Given the description of an element on the screen output the (x, y) to click on. 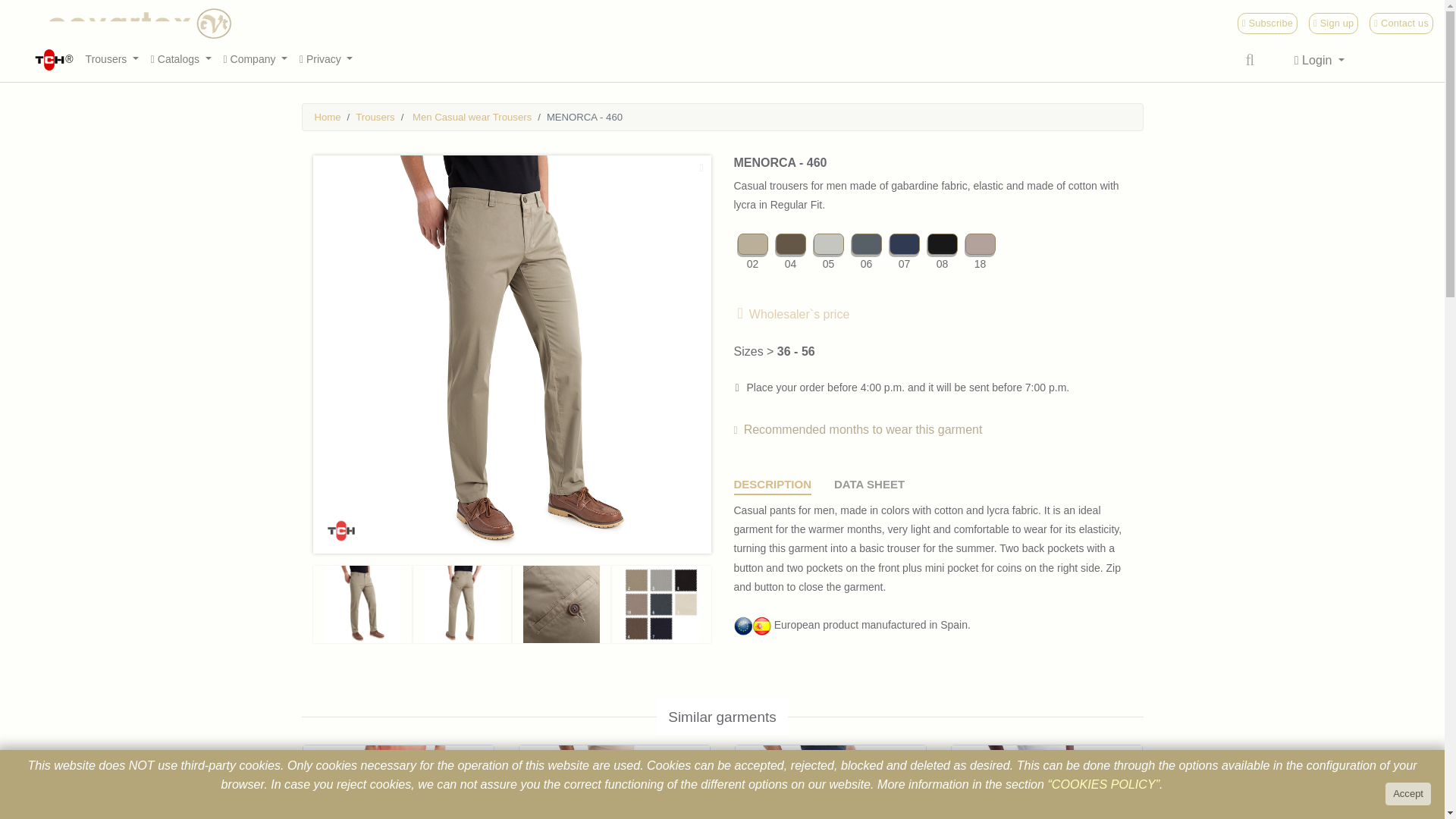
Company (255, 59)
Sign up (1333, 23)
Privacy (326, 59)
Home (327, 116)
Catalogs (180, 59)
Login (1319, 60)
Contact us (1401, 23)
Trousers (112, 59)
